Given the description of an element on the screen output the (x, y) to click on. 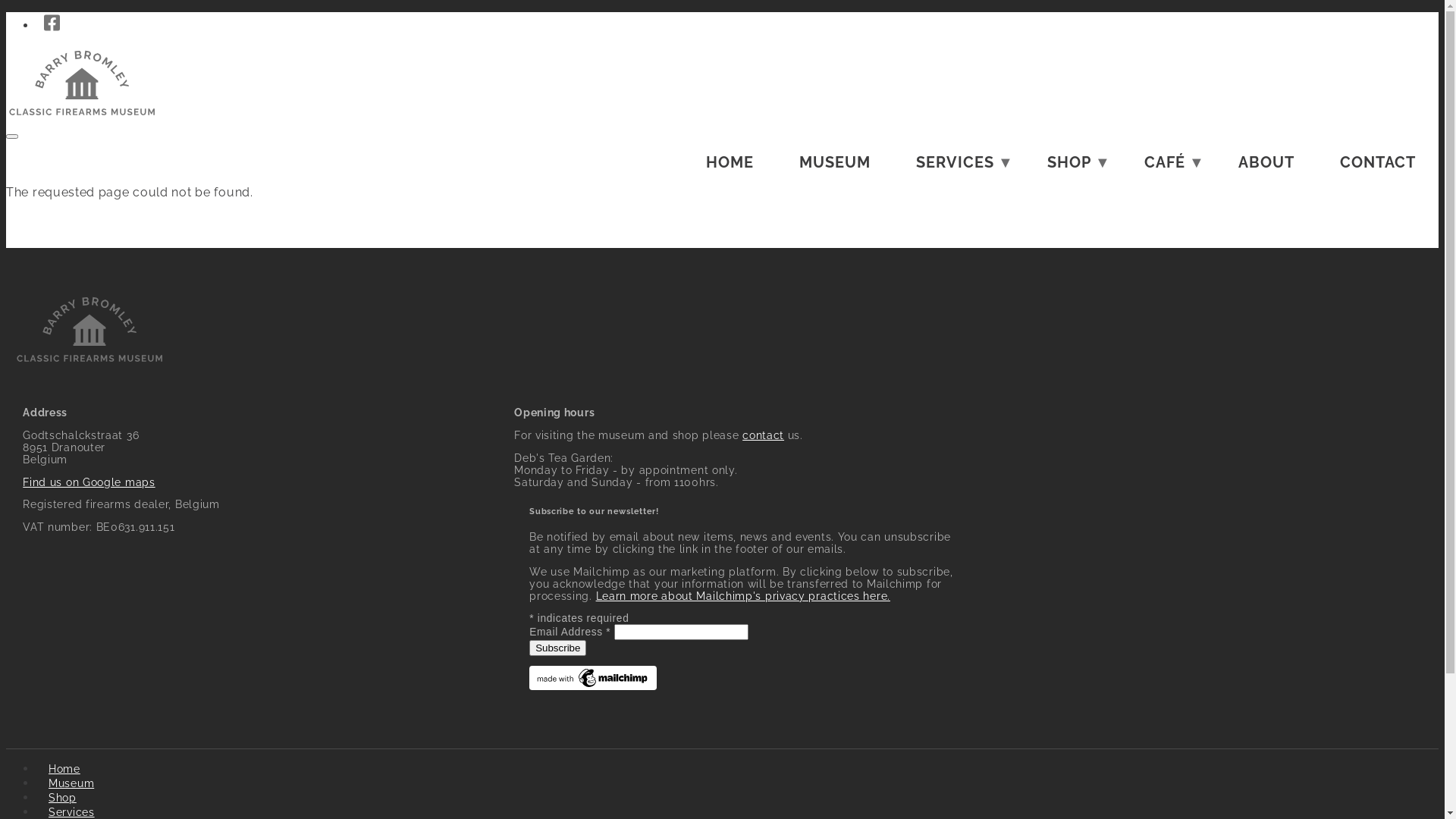
Subscribe Element type: text (557, 647)
Home Element type: text (64, 768)
ABOUT Element type: text (1266, 162)
Home Element type: hover (81, 117)
Learn more about Mailchimp's privacy practices here. Element type: text (743, 595)
contact Element type: text (763, 435)
Find us on Google maps Element type: text (88, 482)
MUSEUM Element type: text (834, 162)
Shop Element type: text (62, 797)
Mailchimp - email marketing made easy and fun Element type: hover (592, 686)
Home Element type: hover (89, 364)
Skip to main content Element type: text (722, 13)
Museum Element type: text (71, 783)
HOME Element type: text (729, 162)
Visit our Facebook page Element type: hover (51, 22)
CONTACT Element type: text (1377, 162)
